Given the description of an element on the screen output the (x, y) to click on. 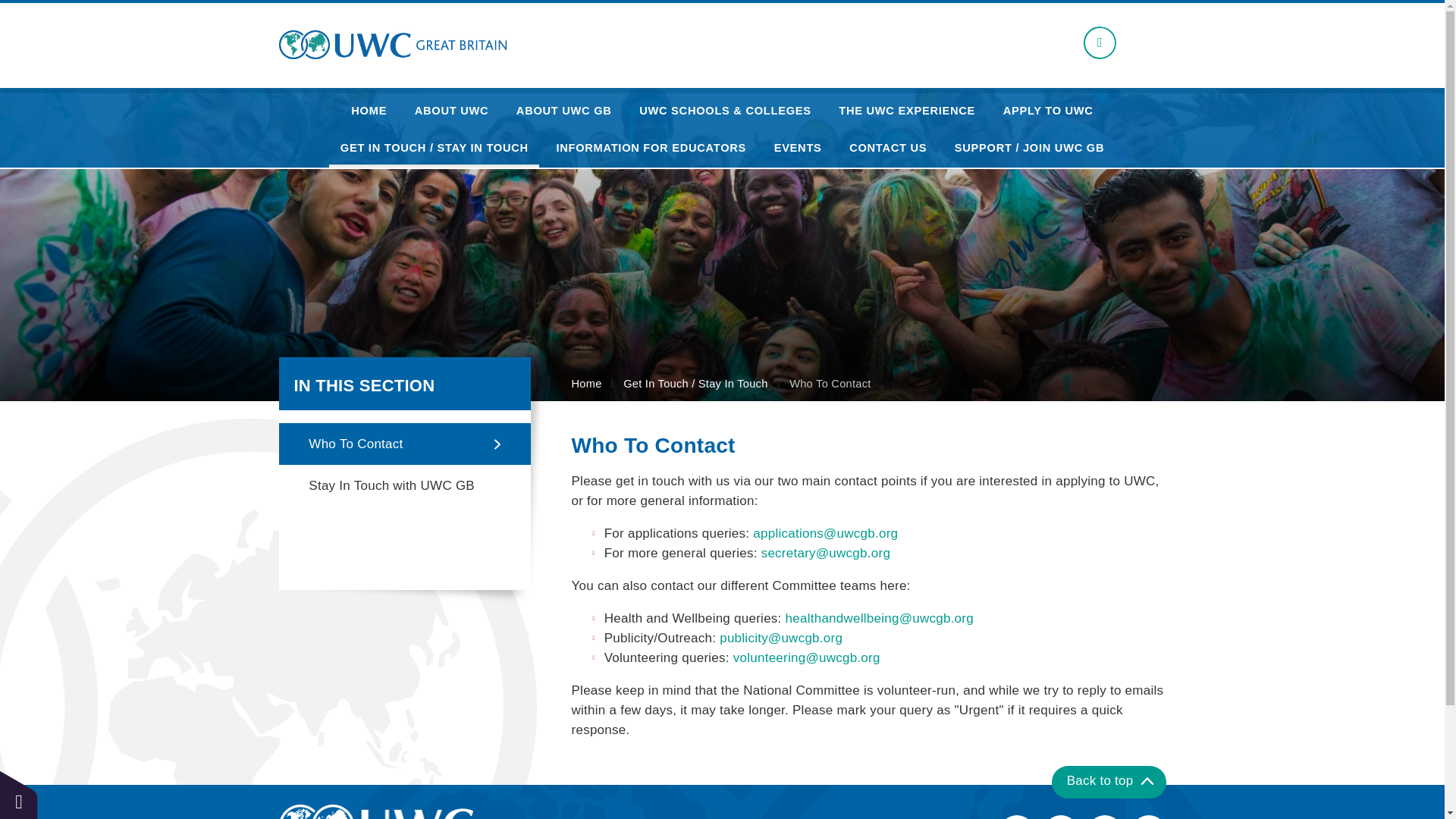
ABOUT UWC GB (564, 111)
Languages (1099, 42)
THE UWC EXPERIENCE (907, 111)
ABOUT UWC (451, 111)
HOME (368, 111)
